Given the description of an element on the screen output the (x, y) to click on. 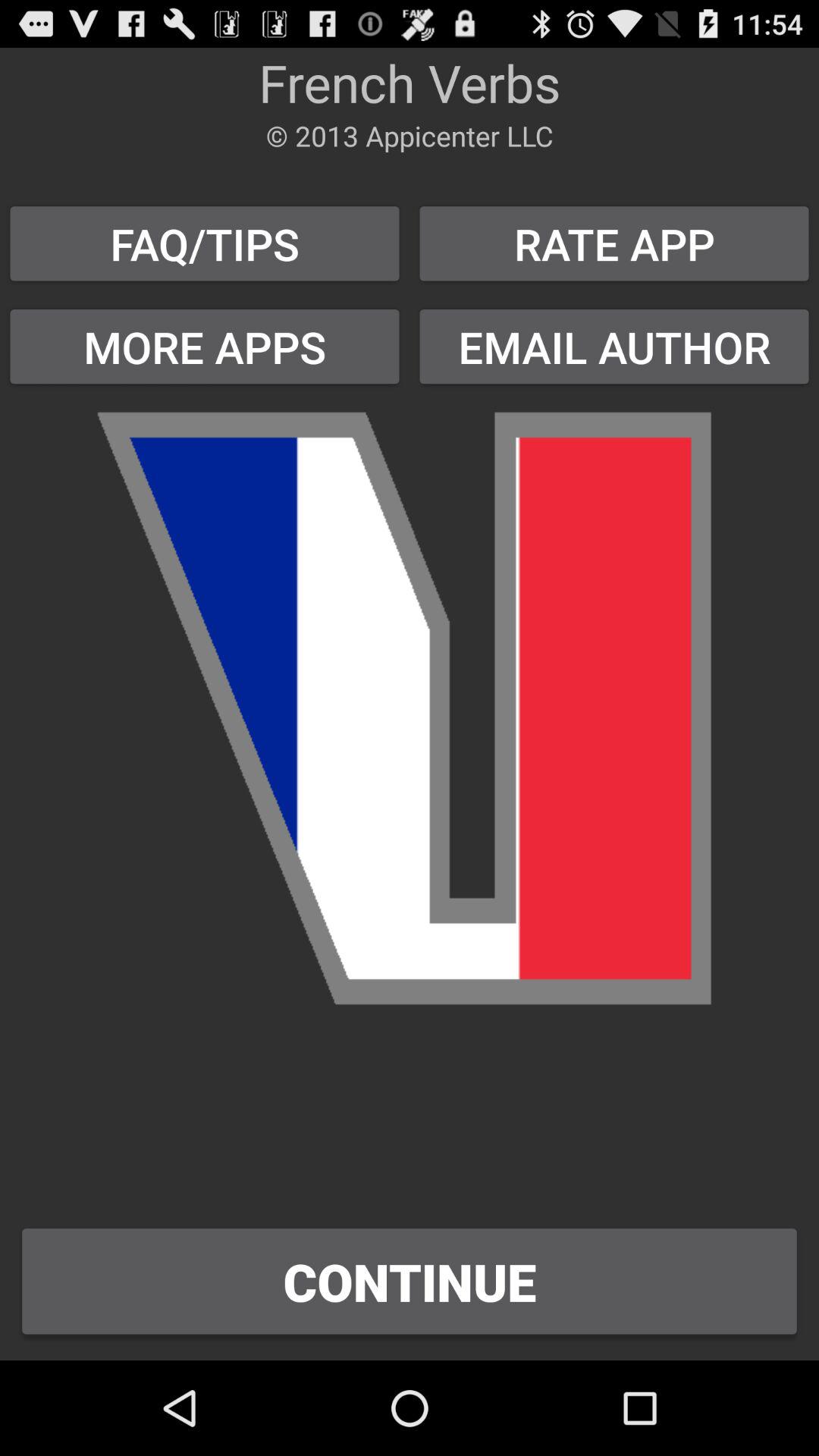
choose item to the right of the faq/tips button (613, 243)
